Given the description of an element on the screen output the (x, y) to click on. 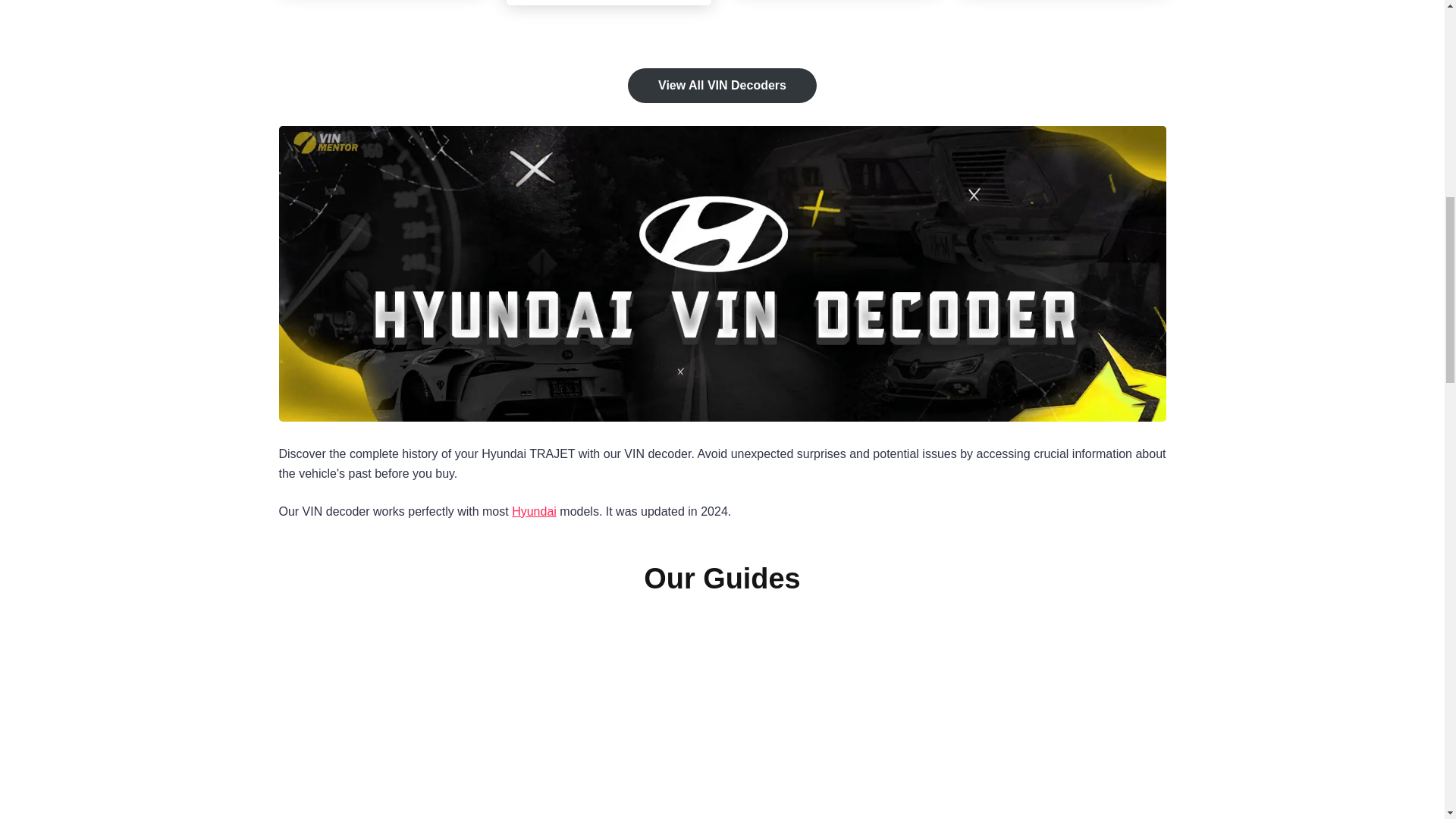
How to Find VIN on Car? (419, 728)
What is VIN? (1025, 728)
What Can You Tell From VIN? (720, 728)
